Given the description of an element on the screen output the (x, y) to click on. 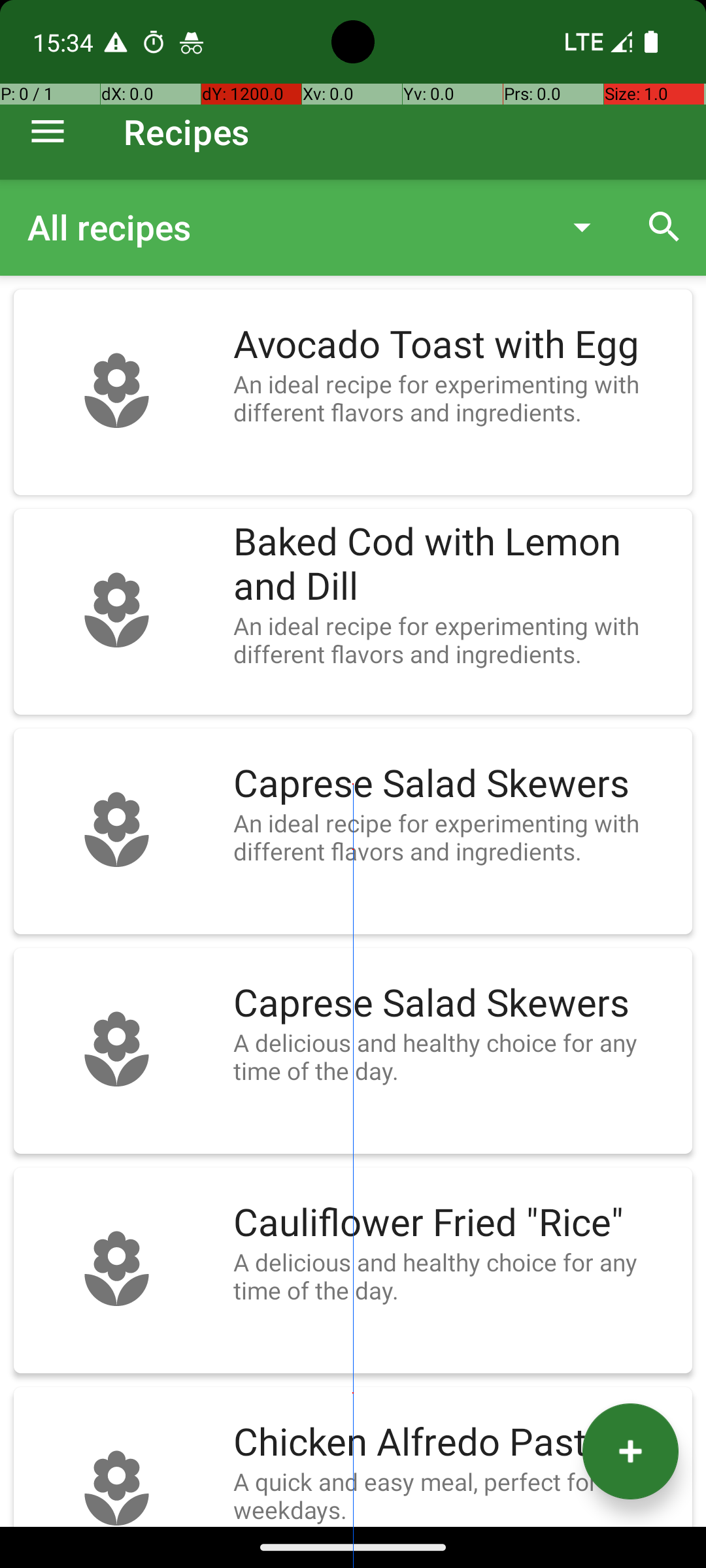
All recipes Element type: android.widget.TextView (283, 226)
Avocado Toast with Egg Element type: android.widget.TextView (455, 344)
Baked Cod with Lemon and Dill Element type: android.widget.TextView (455, 564)
Caprese Salad Skewers Element type: android.widget.TextView (455, 783)
Cauliflower Fried "Rice" Element type: android.widget.TextView (455, 1222)
Chicken Alfredo Pasta Element type: android.widget.TextView (455, 1442)
A quick and easy meal, perfect for busy weekdays. Element type: android.widget.TextView (455, 1495)
